Given the description of an element on the screen output the (x, y) to click on. 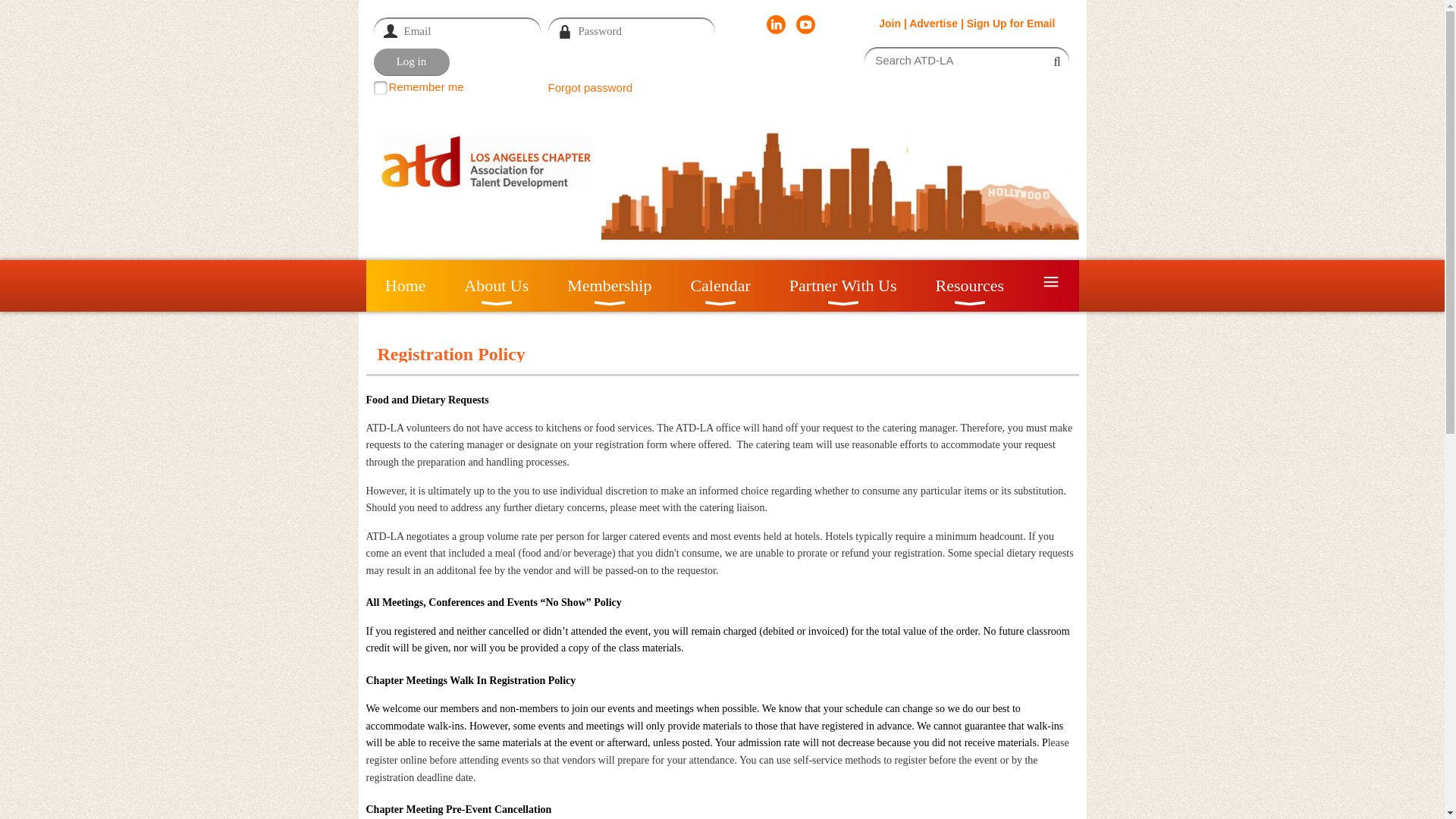
Sign Up for Email (1010, 22)
Log in (410, 62)
Partner With Us (842, 286)
Advertise (933, 23)
Log in (410, 62)
Calendar (720, 286)
Forgot password (589, 87)
YouTube (805, 24)
About Us (496, 286)
About Us (496, 286)
Join (890, 23)
Membership (609, 286)
Home (404, 286)
Home (404, 286)
LinkedIn (776, 24)
